Given the description of an element on the screen output the (x, y) to click on. 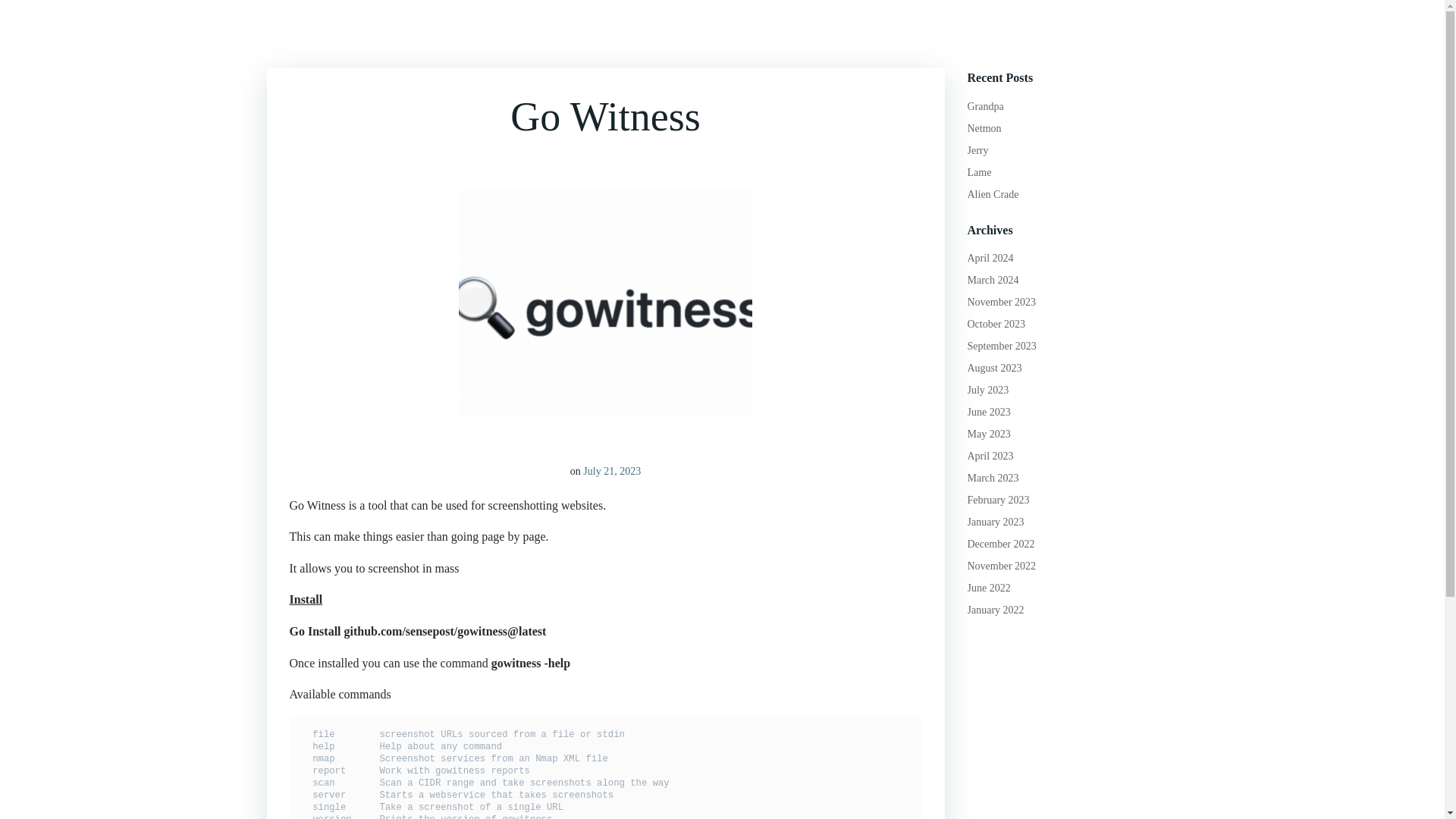
Netmon (984, 128)
May 2023 (989, 433)
Lame (979, 172)
April 2024 (990, 257)
BTLO (1114, 30)
GITHUB (795, 30)
June 2022 (989, 587)
November 2023 (1002, 301)
January 2023 (996, 521)
July 21, 2023 (611, 471)
April 2023 (990, 455)
December 2022 (1001, 543)
June 2023 (989, 411)
HACK THE BOX (957, 30)
September 2023 (1002, 346)
